Given the description of an element on the screen output the (x, y) to click on. 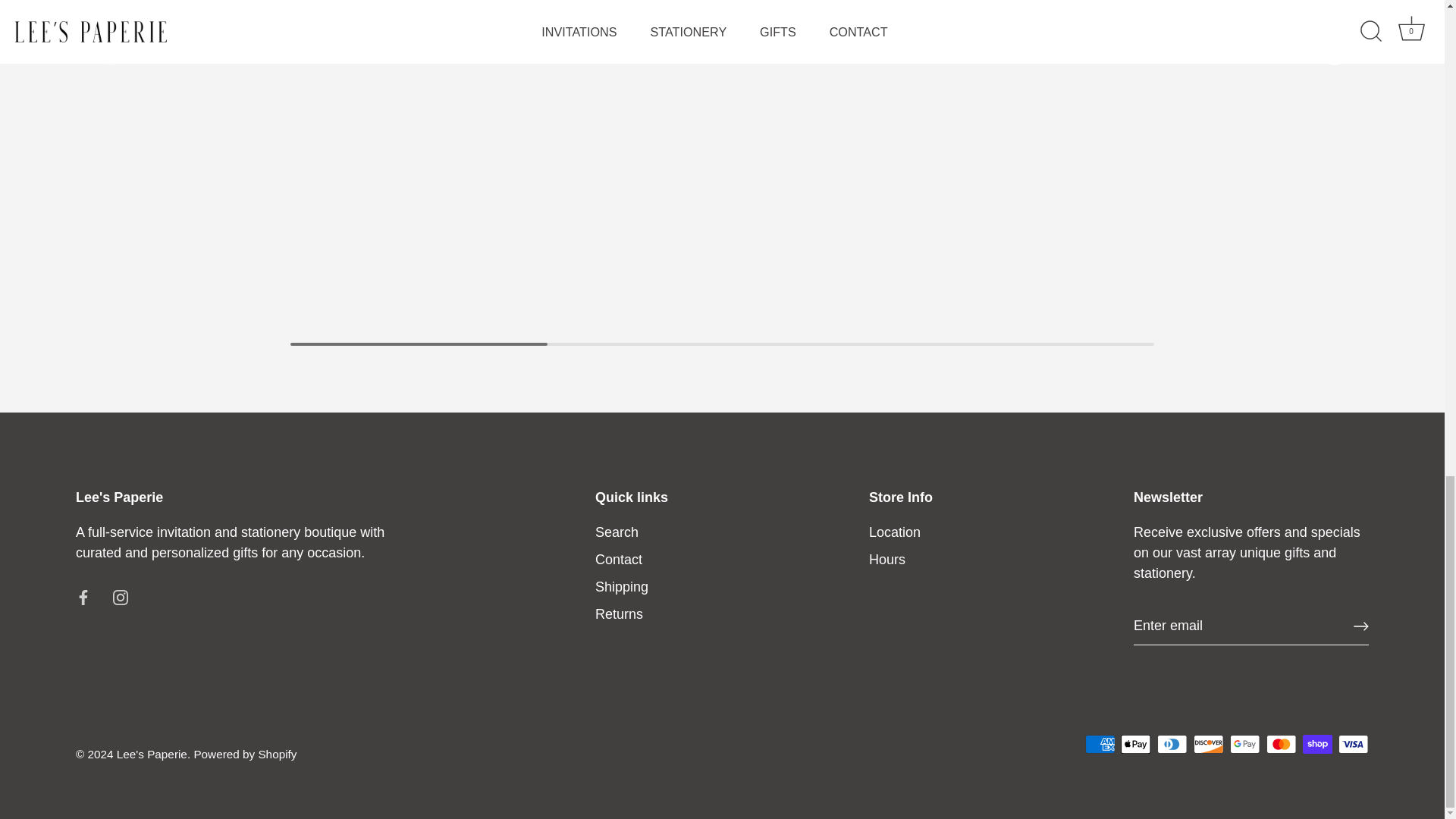
Discover (1208, 743)
Mastercard (1280, 743)
RIGHT ARROW LONG (1361, 626)
Diners Club (1171, 743)
Instagram (120, 597)
Google Pay (1244, 743)
Apple Pay (1135, 743)
Shop Pay (1317, 743)
American Express (1099, 743)
Visa (1353, 743)
